Given the description of an element on the screen output the (x, y) to click on. 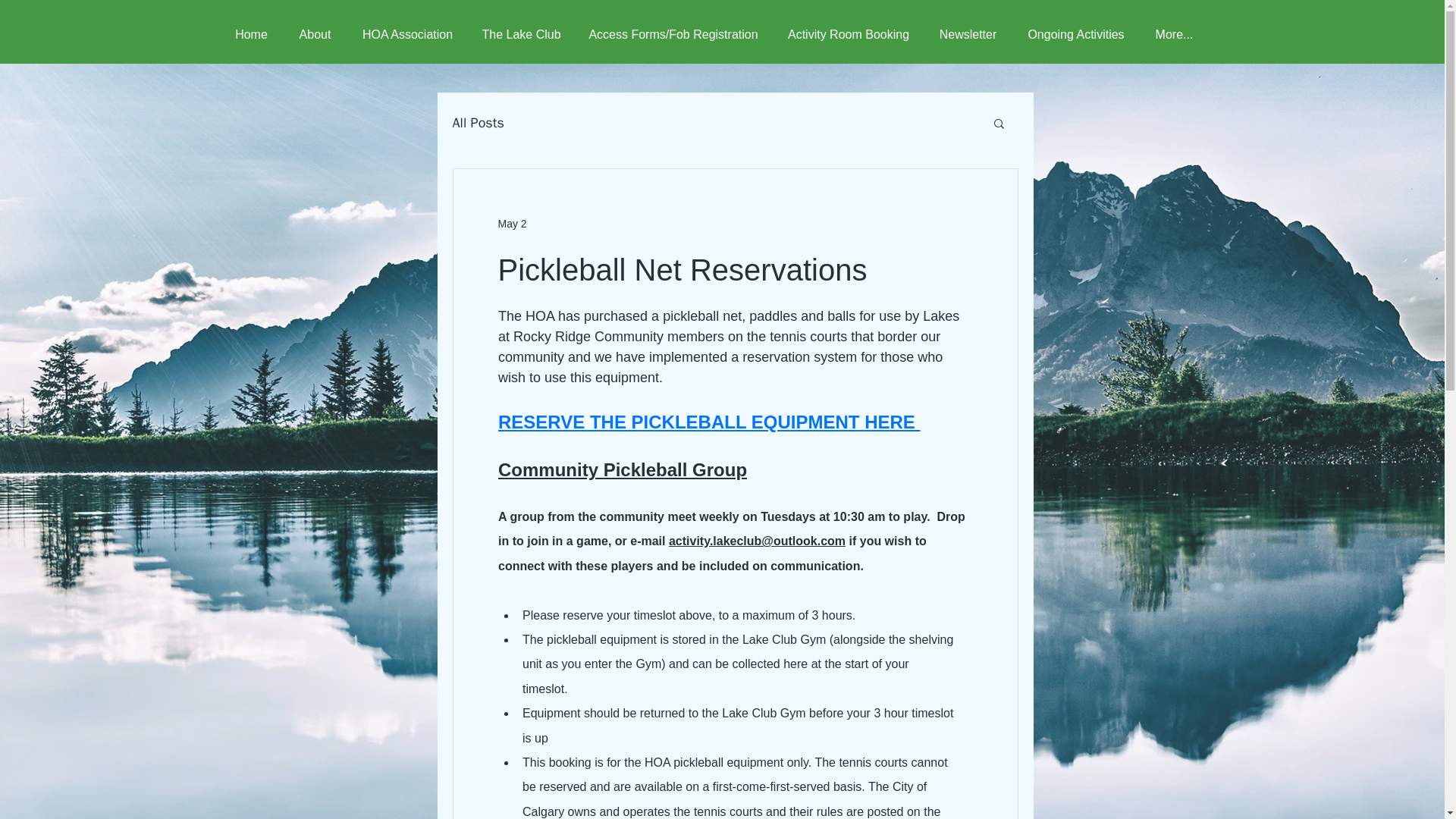
RESERVE THE PICKLEBALL EQUIPMENT HERE  (708, 423)
HOA Association (407, 34)
Ongoing Activities (1076, 34)
About (315, 34)
May 2 (511, 223)
All Posts (477, 122)
Newsletter (967, 34)
The Lake Club (521, 34)
Home (251, 34)
Activity Room Booking (847, 34)
